Given the description of an element on the screen output the (x, y) to click on. 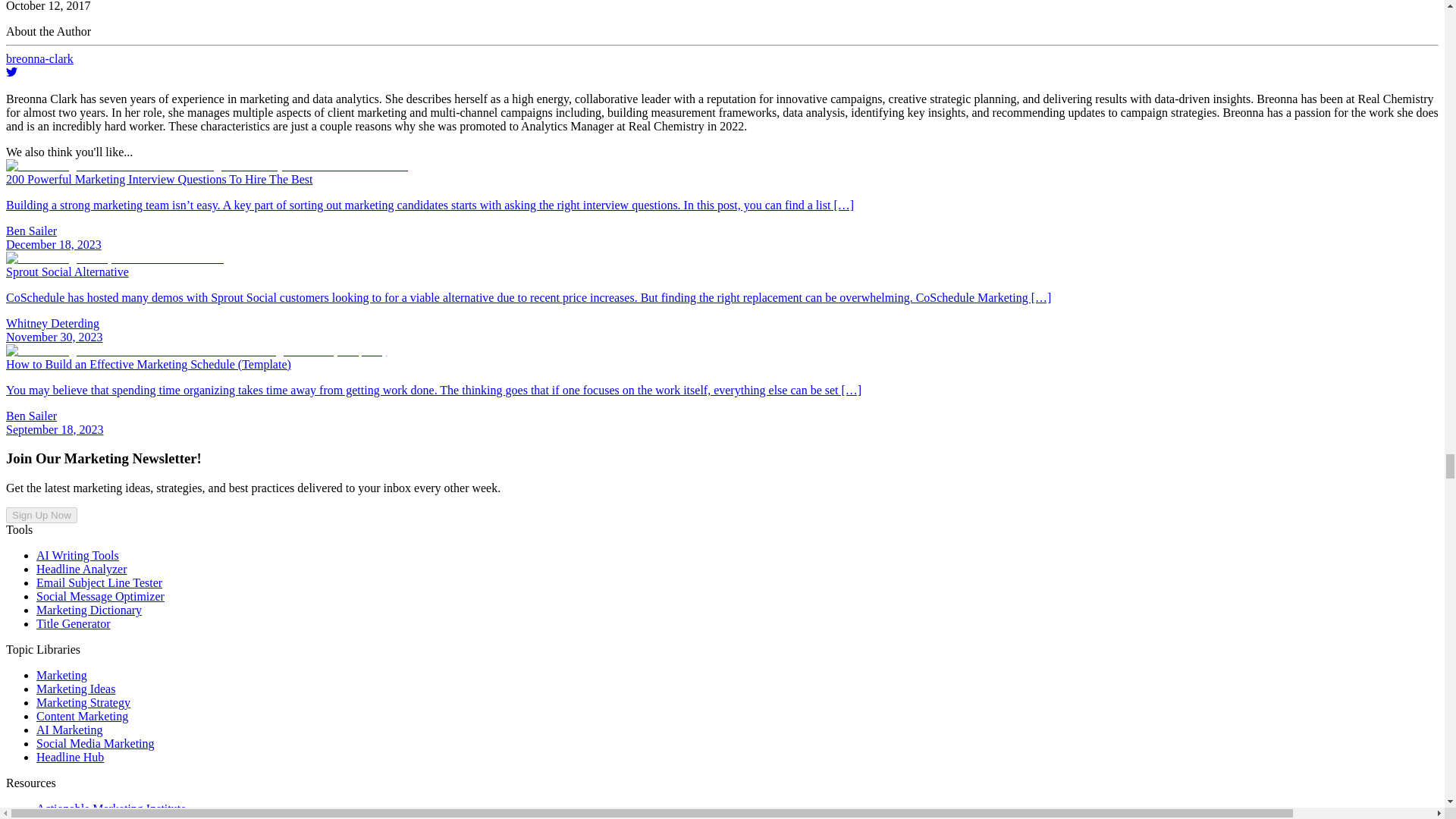
Title Generator (73, 623)
AI Writing Tools (77, 554)
Social Message Optimizer (100, 595)
breonna-clark (721, 65)
Email Subject Line Tester (98, 582)
Headline Analyzer (82, 568)
Sign Up Now (41, 514)
Marketing Dictionary (88, 609)
